Given the description of an element on the screen output the (x, y) to click on. 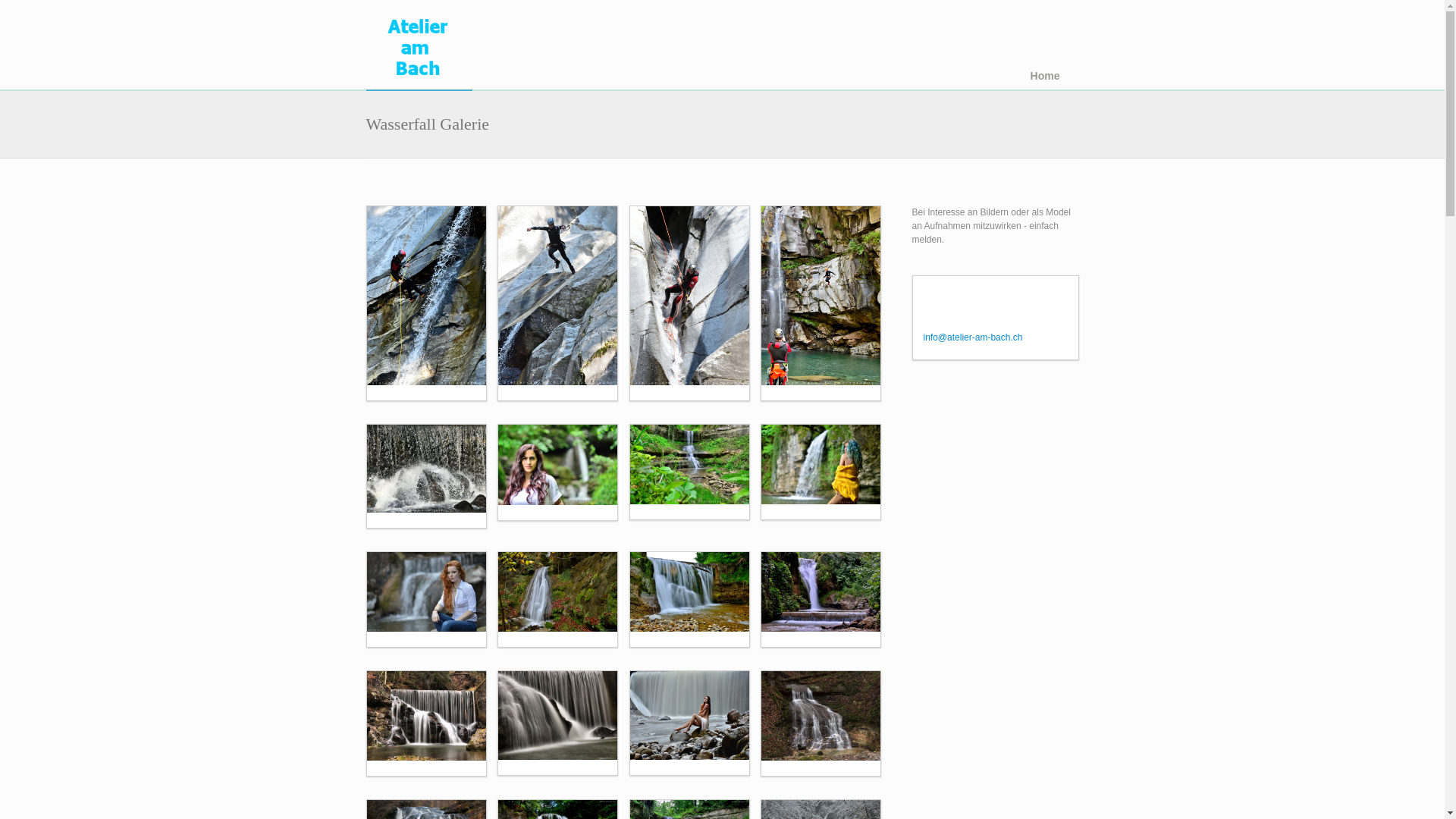
Home Element type: hover (418, 45)
Home Element type: text (1044, 76)
info@atelier-am-bach.ch Element type: text (972, 337)
